Given the description of an element on the screen output the (x, y) to click on. 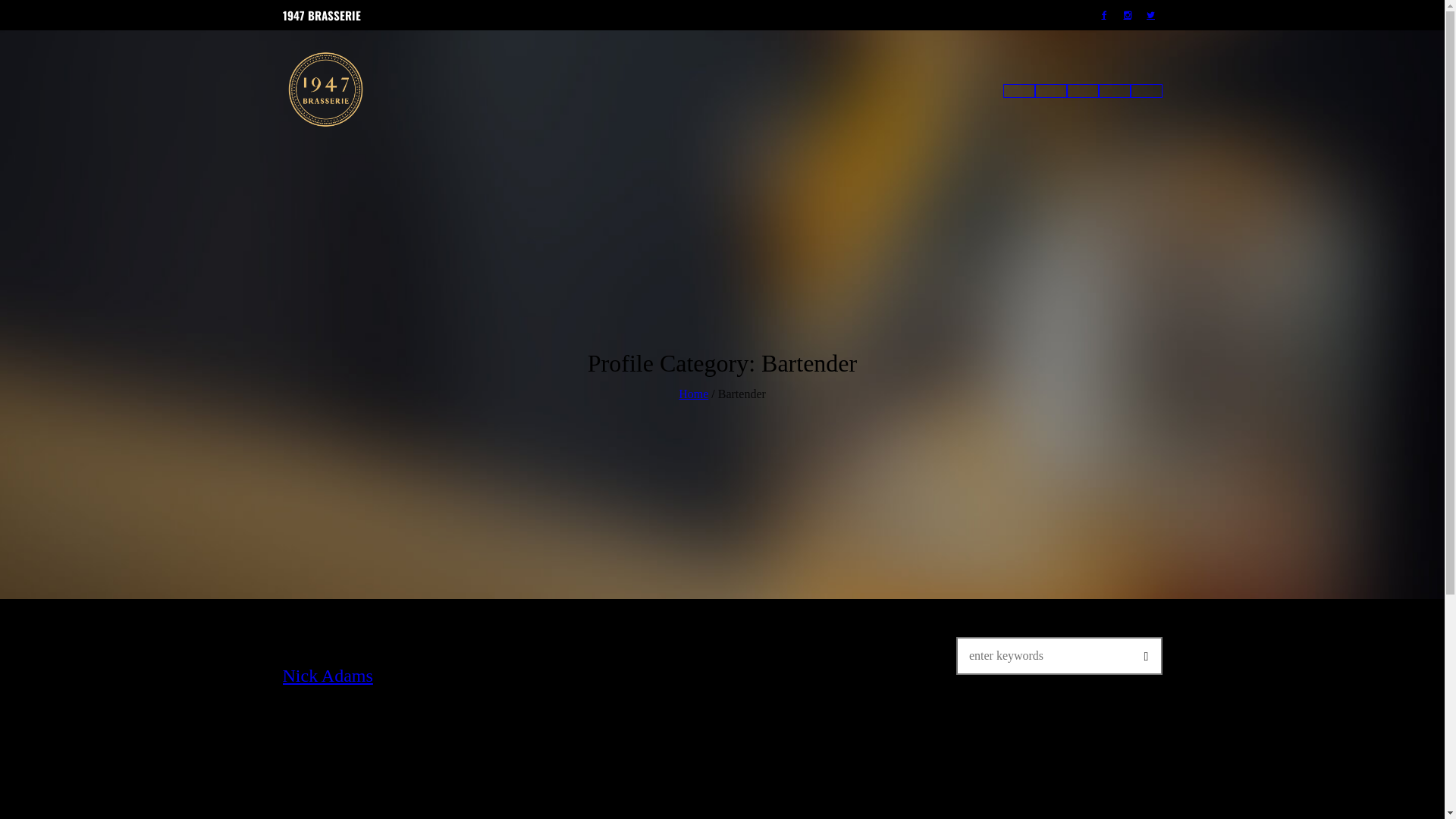
Reservation Element type: text (1050, 90)
Menu Element type: text (1082, 90)
Contact Element type: text (1113, 90)
Twitter Element type: hover (1150, 14)
Private DINING Element type: text (1145, 90)
Nick Adams Element type: text (327, 675)
Facebook Element type: hover (1103, 14)
Home Element type: text (1018, 90)
Home Element type: text (693, 393)
Instagram Element type: hover (1127, 14)
